Given the description of an element on the screen output the (x, y) to click on. 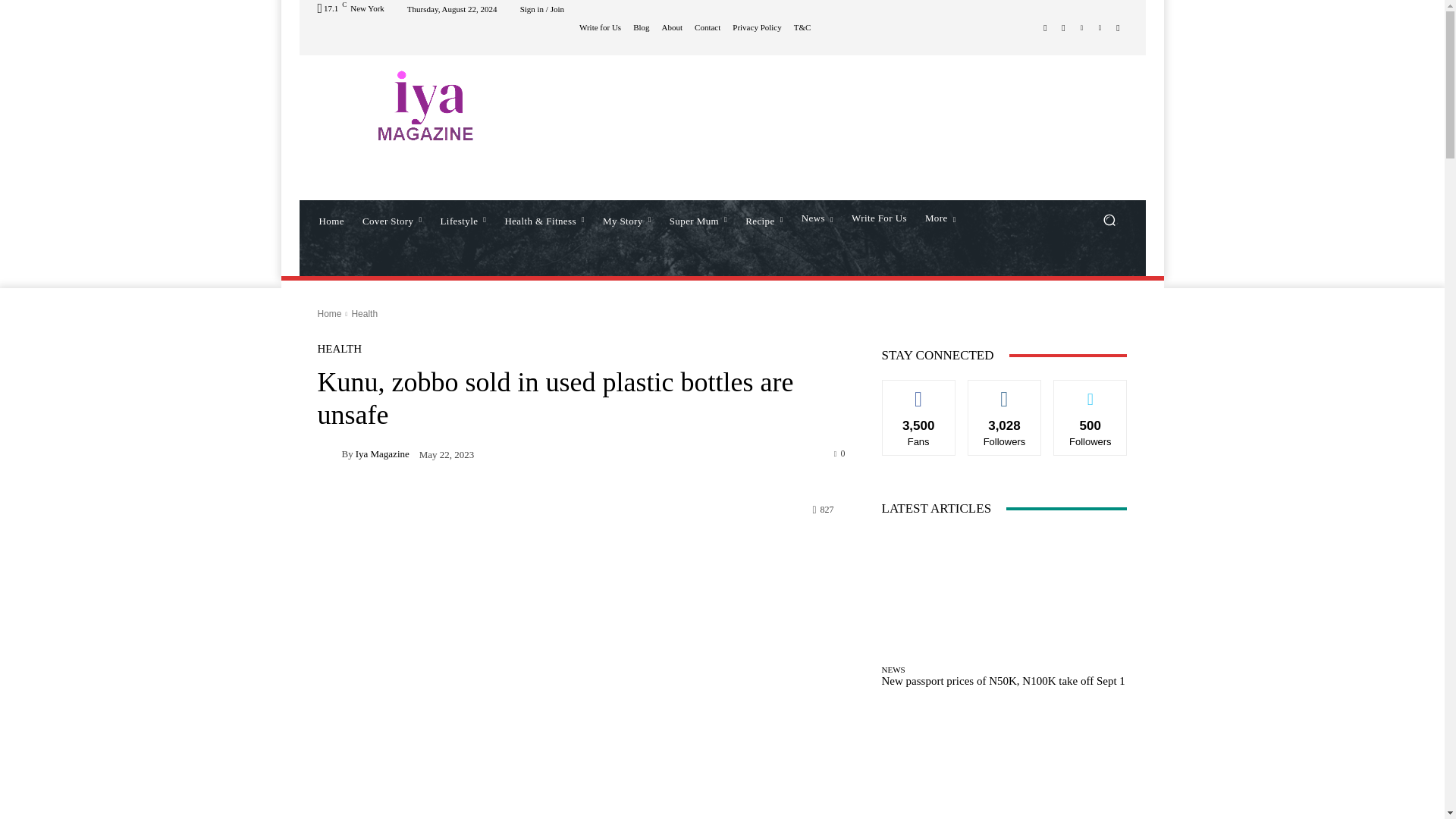
Privacy Policy (756, 27)
Contact (707, 27)
Vimeo (1099, 27)
Twitter (1080, 27)
Blog (641, 27)
Youtube (1117, 27)
Home (330, 219)
Write for Us (600, 27)
Facebook (1044, 27)
Cover Story (391, 219)
